Given the description of an element on the screen output the (x, y) to click on. 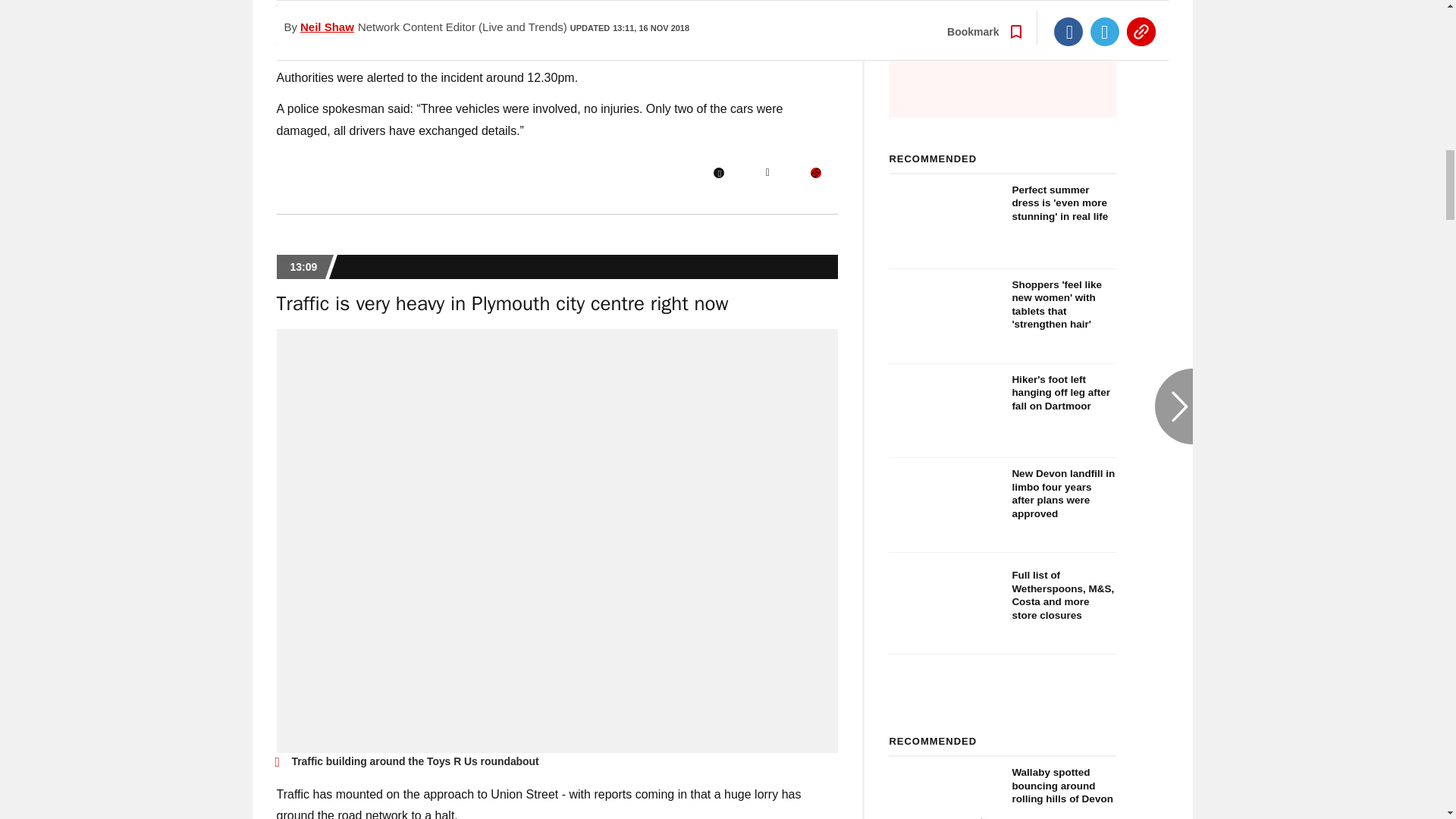
Twitter (767, 172)
Facebook (718, 172)
